Given the description of an element on the screen output the (x, y) to click on. 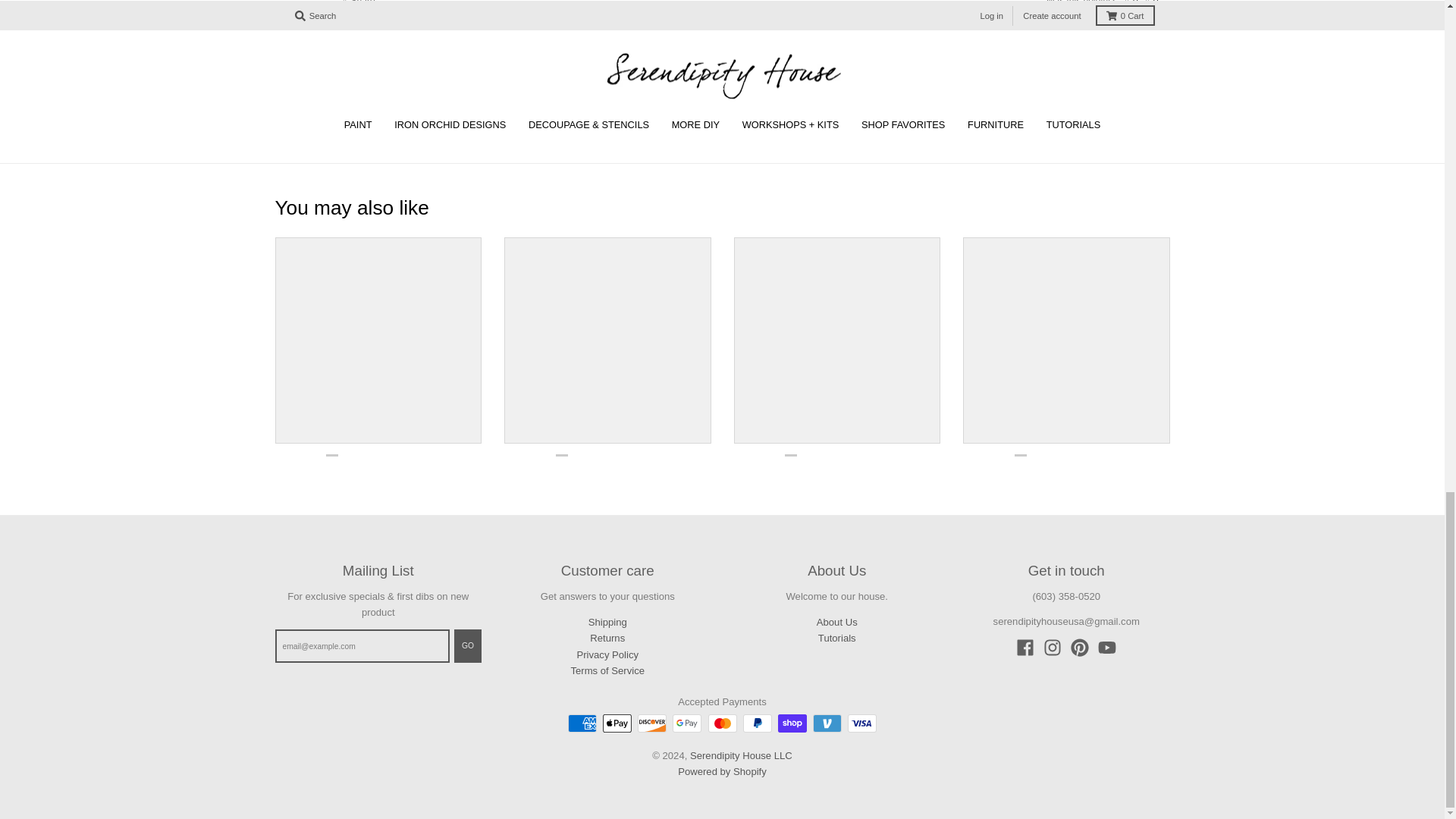
Instagram - Serendipity House LLC (1052, 647)
Facebook - Serendipity House LLC (1024, 647)
Pinterest - Serendipity House LLC (1079, 647)
YouTube - Serendipity House LLC (1106, 647)
